Given the description of an element on the screen output the (x, y) to click on. 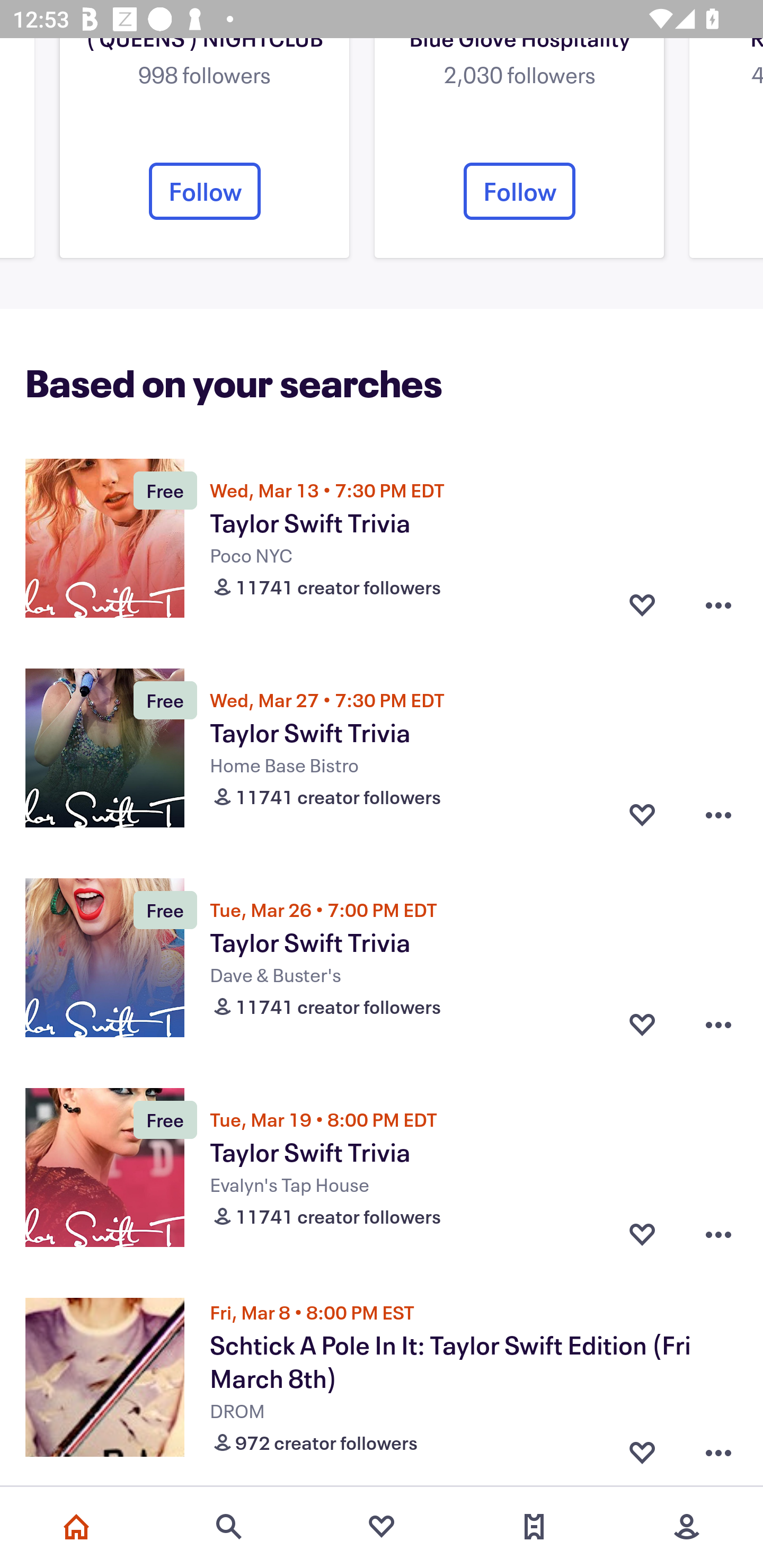
Follow Organizer's follow button (204, 191)
Follow Organizer's follow button (519, 191)
Favorite button (642, 604)
Overflow menu button (718, 604)
Favorite button (642, 814)
Overflow menu button (718, 814)
Favorite button (642, 1024)
Overflow menu button (718, 1024)
Favorite button (642, 1233)
Overflow menu button (718, 1233)
Favorite button (642, 1447)
Overflow menu button (718, 1447)
Home (76, 1526)
Search events (228, 1526)
Favorites (381, 1526)
Tickets (533, 1526)
More (686, 1526)
